Given the description of an element on the screen output the (x, y) to click on. 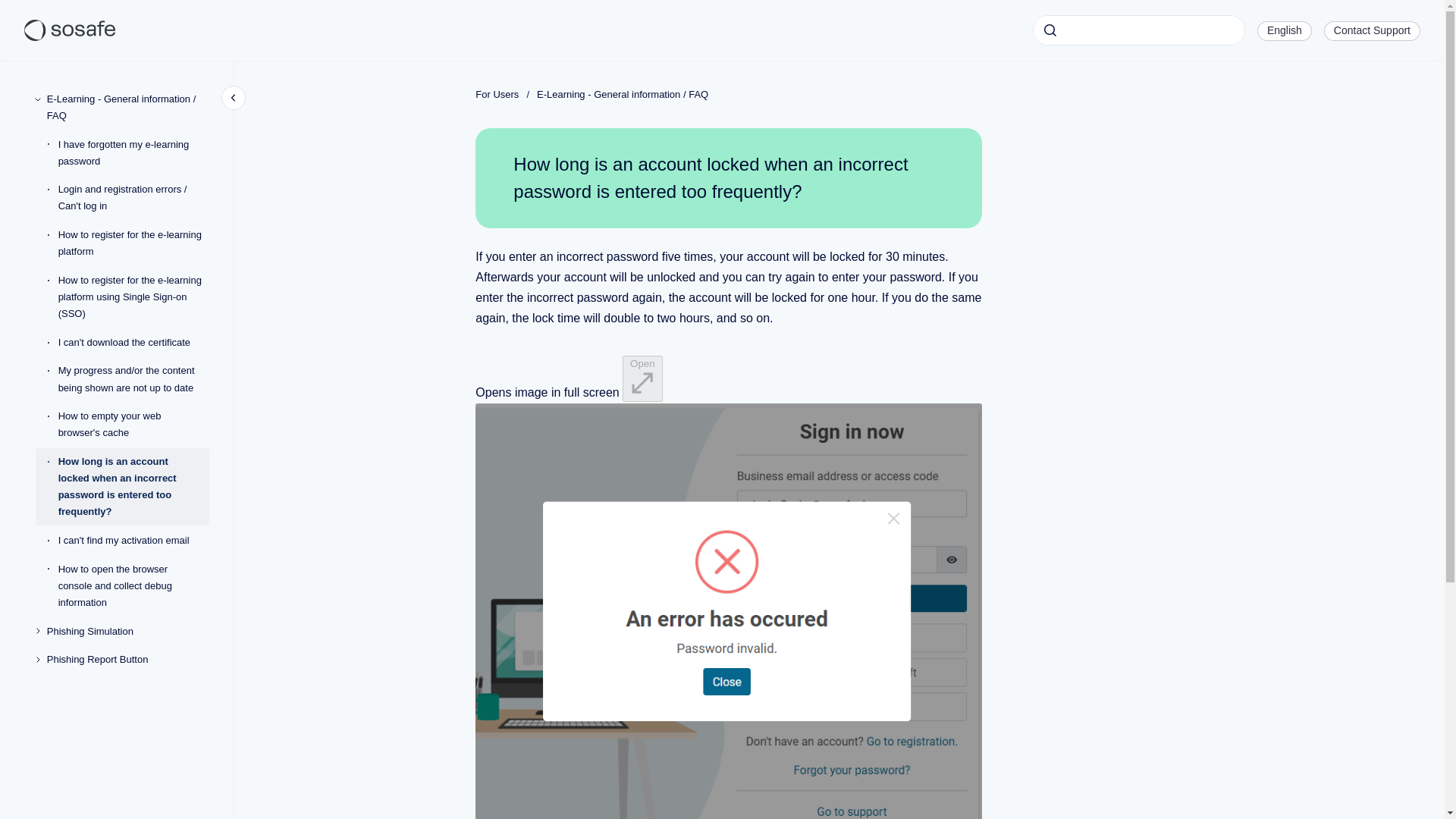
For Users (497, 94)
I can't find my activation email (133, 540)
Phishing Simulation (127, 631)
Contact Support (1371, 31)
I can't download the certificate (133, 342)
I have forgotten my e-learning password (133, 153)
English (1283, 31)
How to empty your web browser's cache (133, 424)
Phishing Report Button (127, 659)
How to register for the e-learning platform (133, 243)
Go to homepage (69, 29)
